Given the description of an element on the screen output the (x, y) to click on. 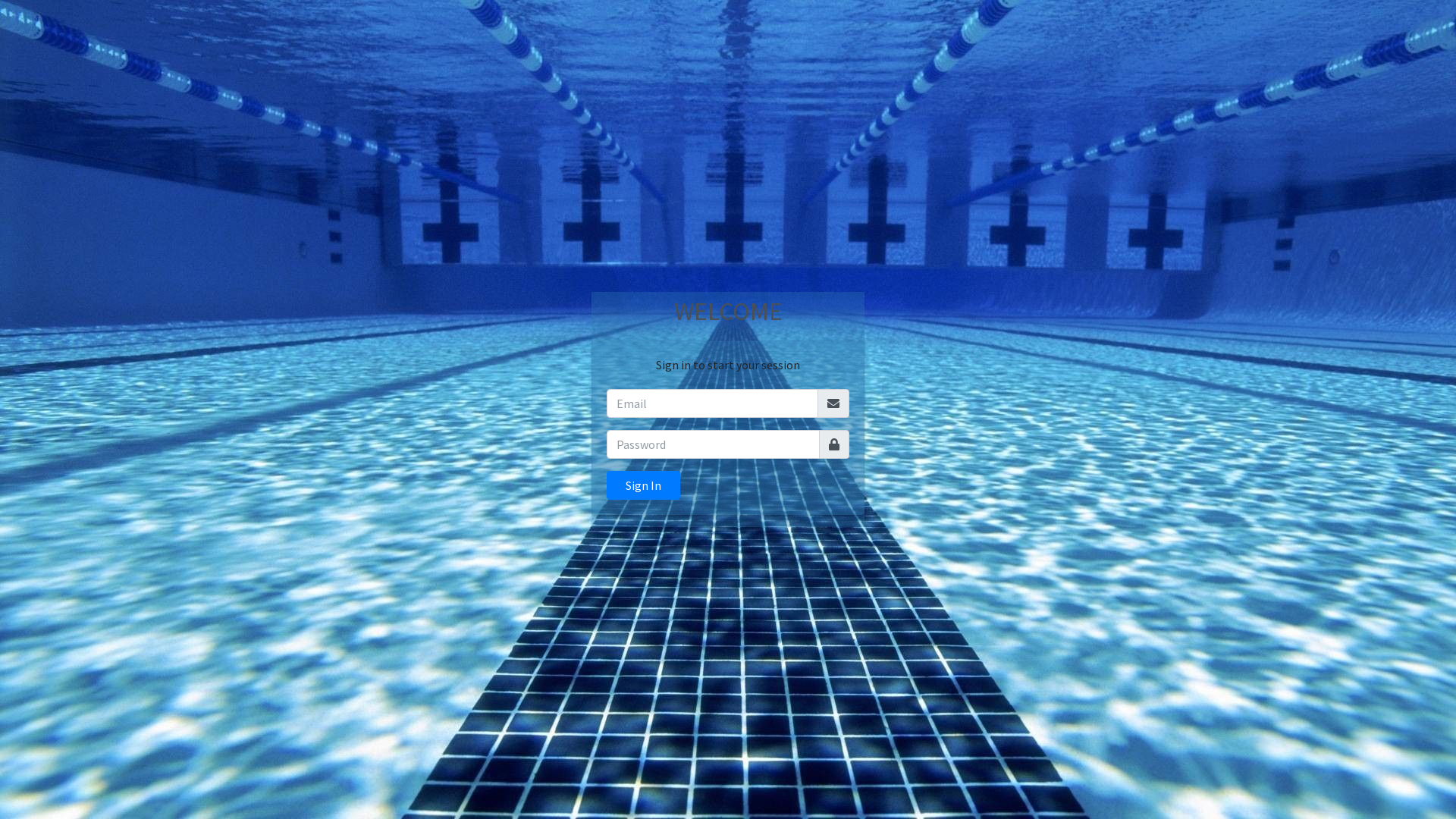
WELCOME Element type: text (727, 310)
Sign In Element type: text (643, 484)
